Given the description of an element on the screen output the (x, y) to click on. 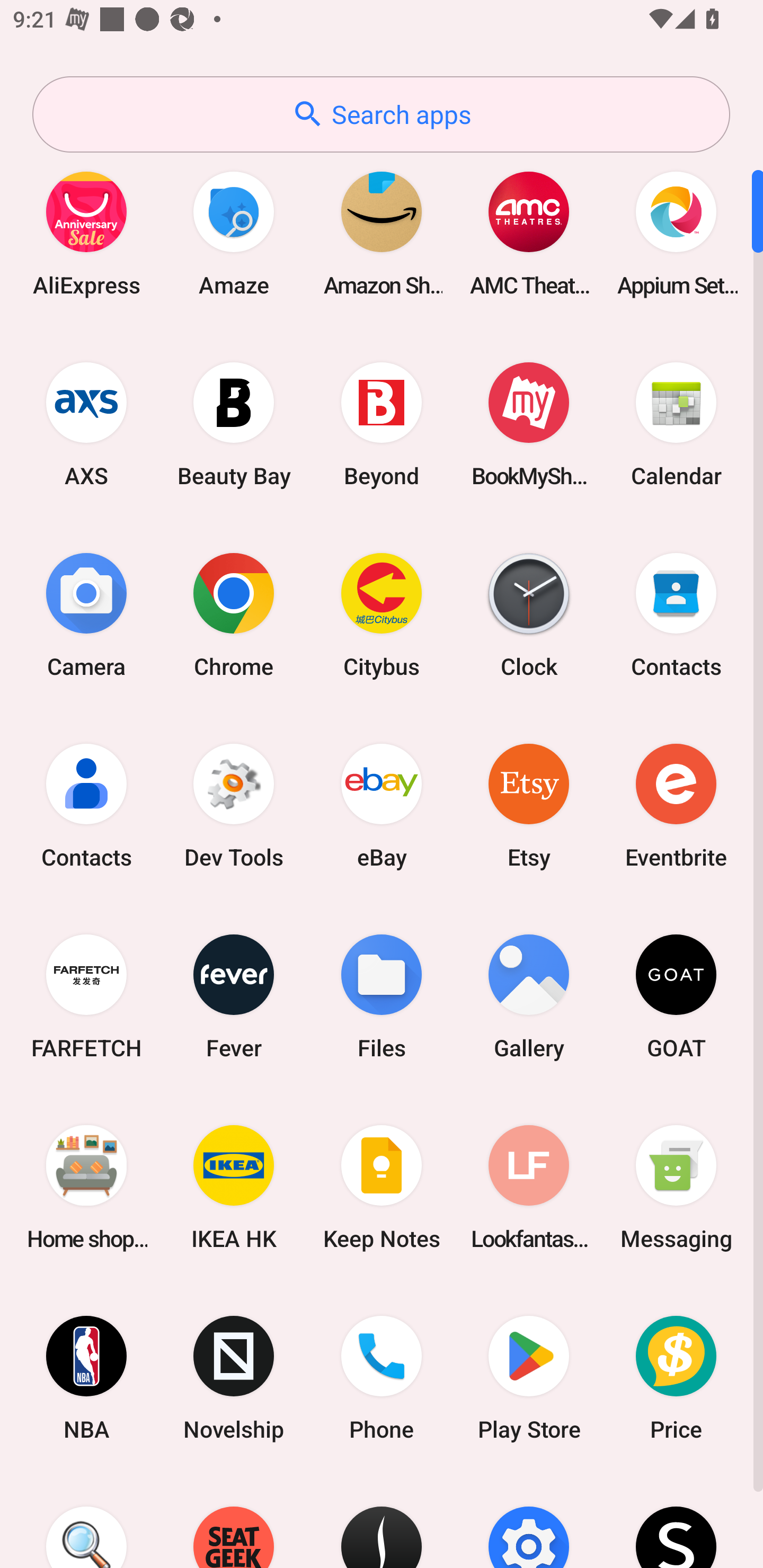
  Search apps (381, 114)
AliExpress (86, 233)
Amaze (233, 233)
Amazon Shopping (381, 233)
AMC Theatres (528, 233)
Appium Settings (676, 233)
AXS (86, 424)
Beauty Bay (233, 424)
Beyond (381, 424)
BookMyShow (528, 424)
Calendar (676, 424)
Camera (86, 614)
Chrome (233, 614)
Citybus (381, 614)
Clock (528, 614)
Contacts (676, 614)
Contacts (86, 805)
Dev Tools (233, 805)
eBay (381, 805)
Etsy (528, 805)
Eventbrite (676, 805)
FARFETCH (86, 996)
Fever (233, 996)
Files (381, 996)
Gallery (528, 996)
GOAT (676, 996)
Home shopping (86, 1186)
IKEA HK (233, 1186)
Keep Notes (381, 1186)
Lookfantastic (528, 1186)
Messaging (676, 1186)
NBA (86, 1377)
Novelship (233, 1377)
Phone (381, 1377)
Play Store (528, 1377)
Price (676, 1377)
